Given the description of an element on the screen output the (x, y) to click on. 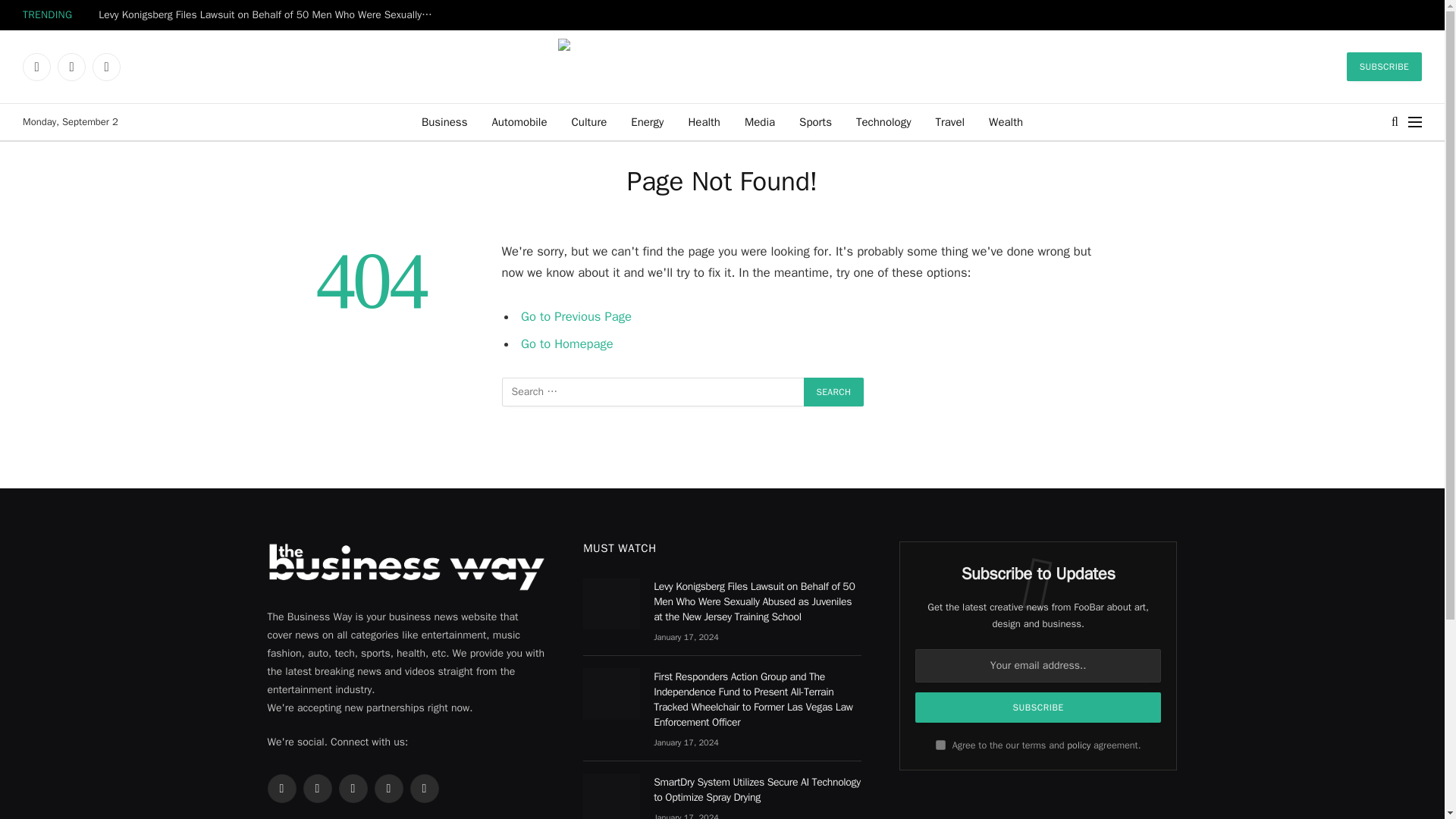
Wealth (1005, 122)
Business (444, 122)
Energy (646, 122)
Instagram (106, 67)
Subscribe (1038, 707)
on (940, 745)
The Business Way (721, 66)
Technology (883, 122)
Media (759, 122)
